Given the description of an element on the screen output the (x, y) to click on. 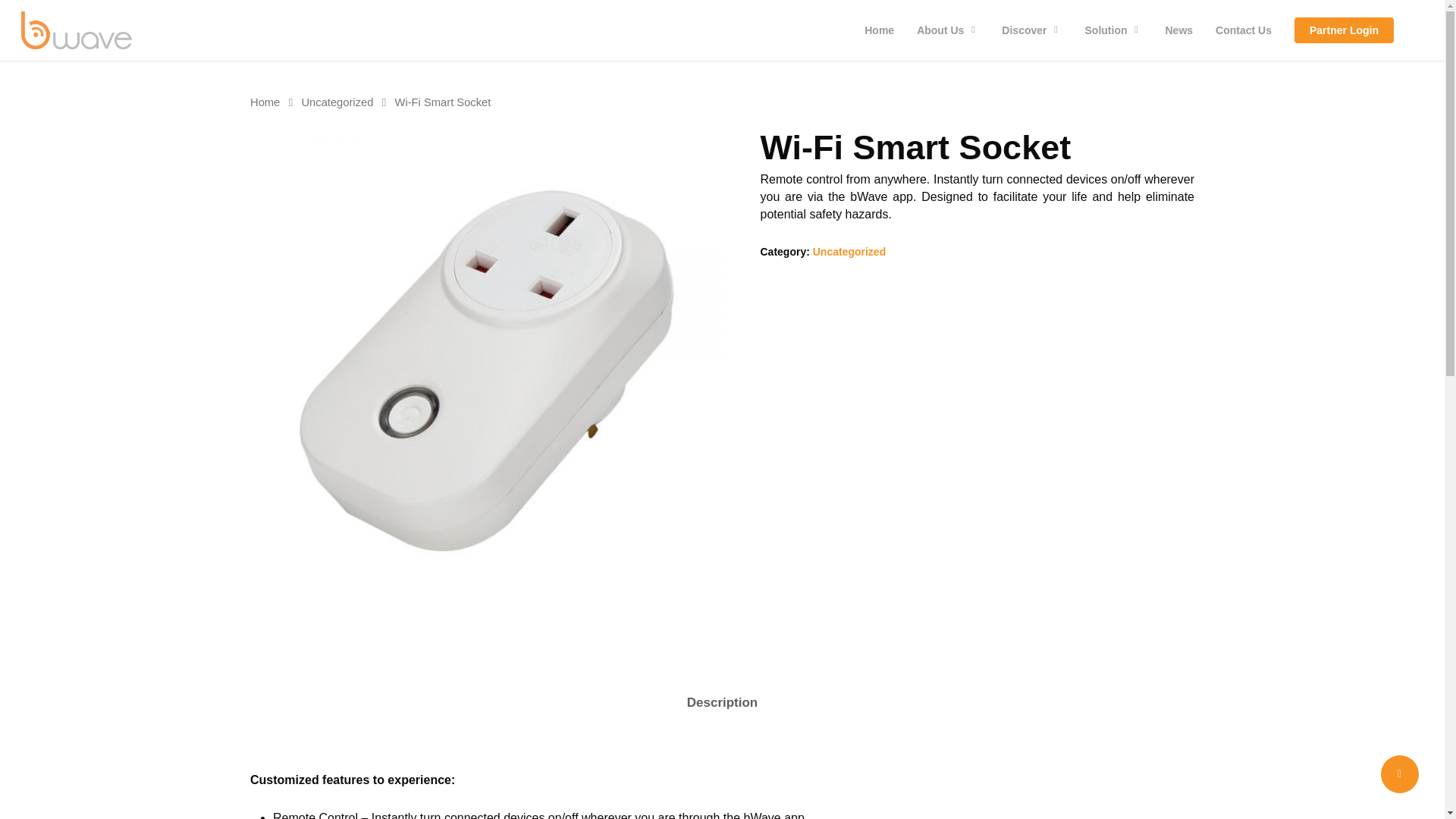
Contact Us (1243, 30)
Discover (1031, 30)
News (1179, 30)
Home (879, 30)
Home (264, 102)
About Us (947, 30)
Uncategorized (848, 251)
Uncategorized (336, 102)
Solution (1114, 30)
